Given the description of an element on the screen output the (x, y) to click on. 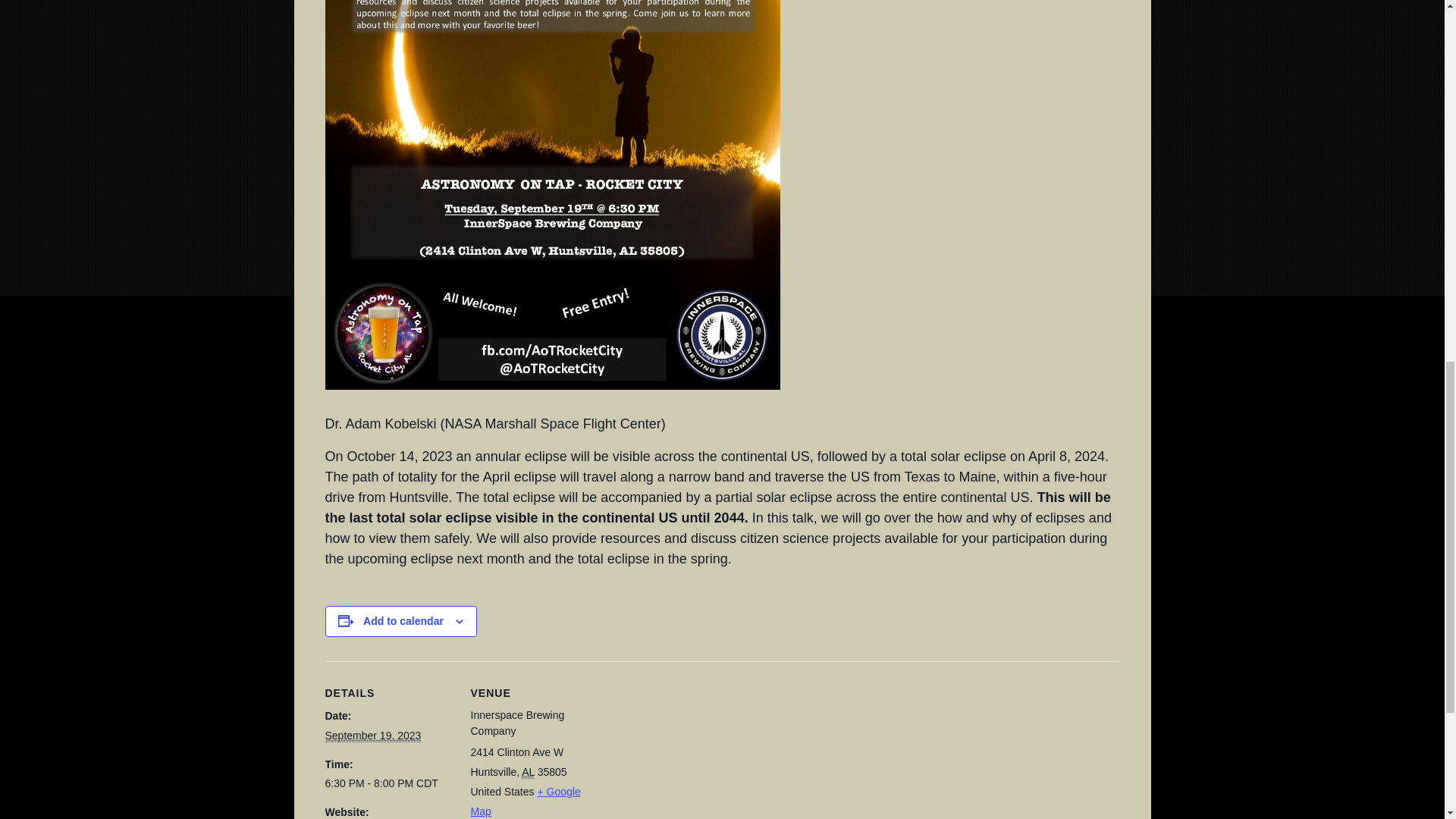
Alabama (527, 771)
2023-09-19 (387, 783)
2023-09-19 (372, 735)
Add to calendar (403, 621)
Click to view a Google Map (524, 801)
